Given the description of an element on the screen output the (x, y) to click on. 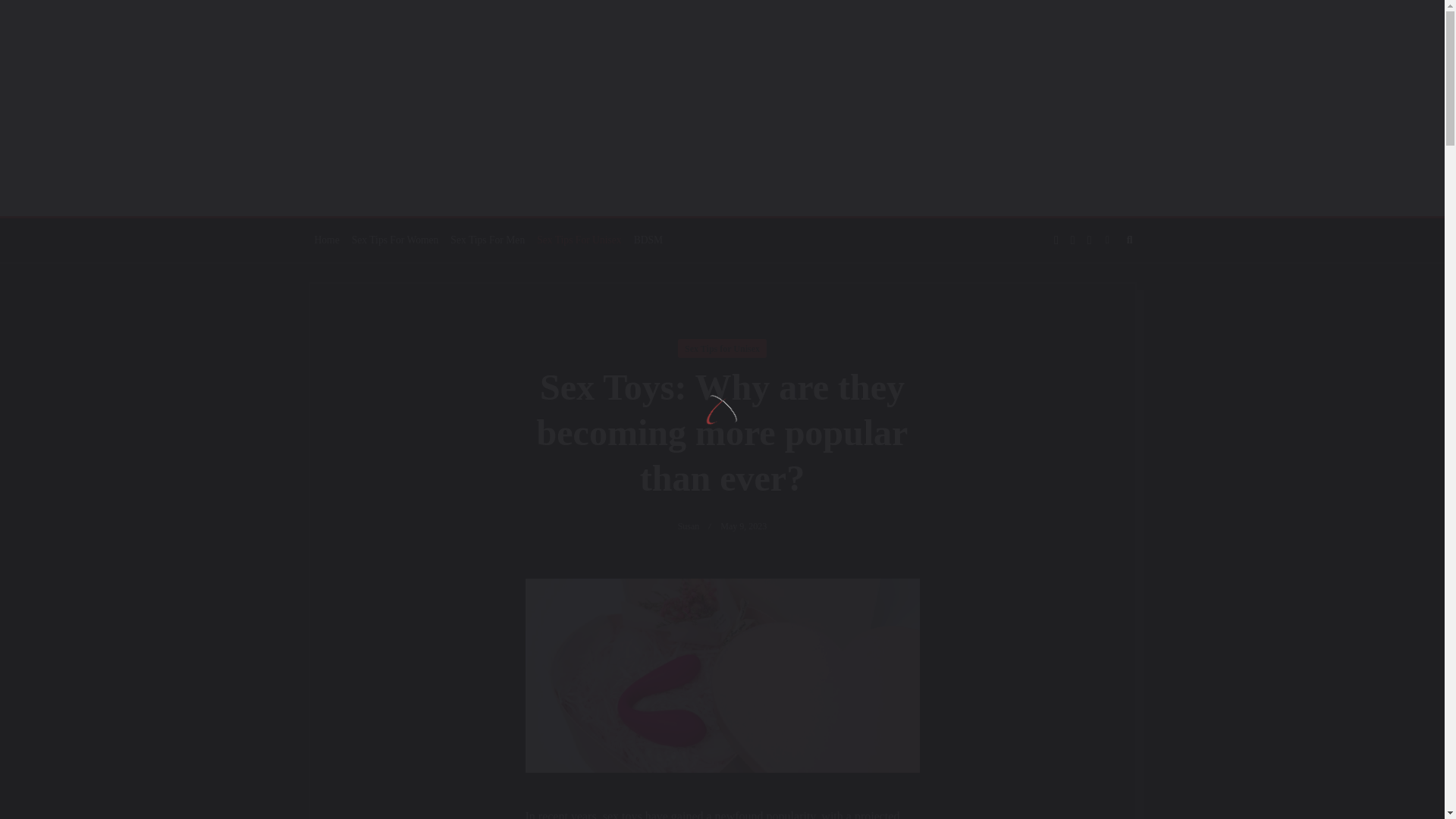
Susan (689, 525)
Sex Tips For Women (395, 239)
Sex Tips for Unisex (722, 348)
Home (326, 239)
BDSM (648, 239)
Sex Tips For Men (487, 239)
Sex Tips For Unisex (579, 239)
May 9, 2023 (743, 525)
